Given the description of an element on the screen output the (x, y) to click on. 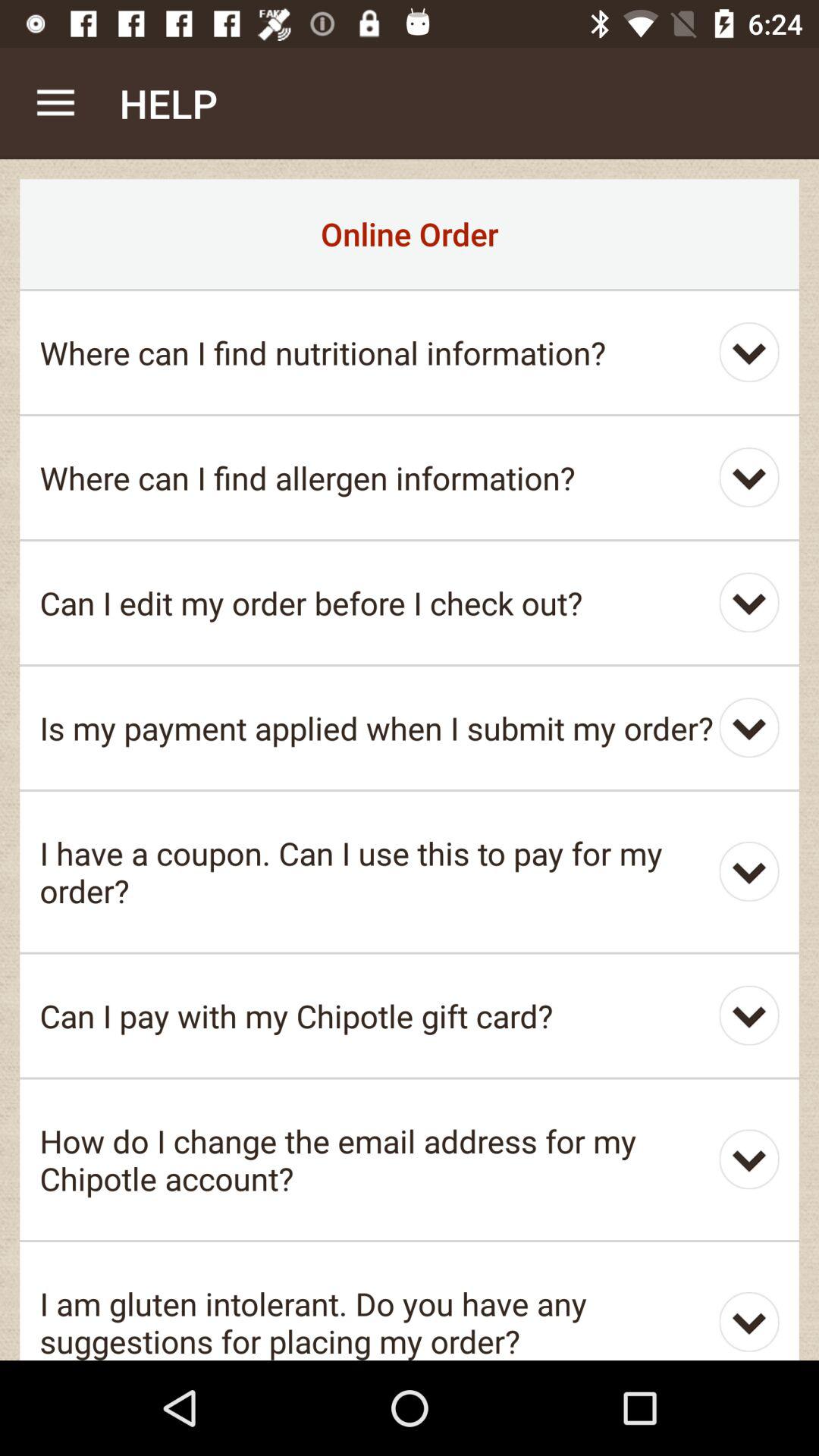
launch the online order (409, 233)
